Given the description of an element on the screen output the (x, y) to click on. 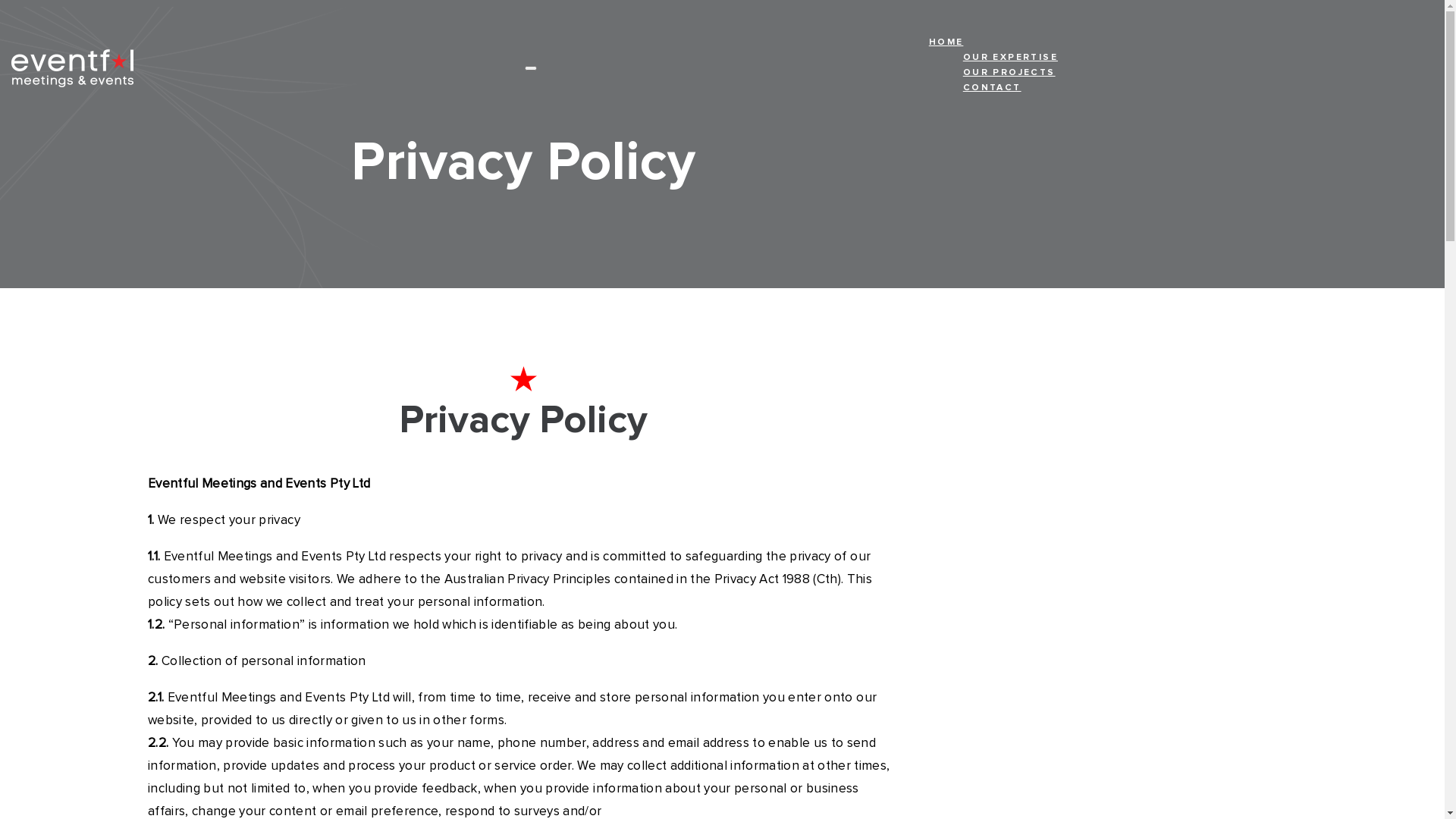
OUR EXPERTISE Element type: text (1010, 60)
OUR PROJECTS Element type: text (1010, 75)
+61 2 9690 2699 Element type: text (528, 770)
HOME Element type: text (992, 45)
CONTACT Element type: text (1010, 90)
